Given the description of an element on the screen output the (x, y) to click on. 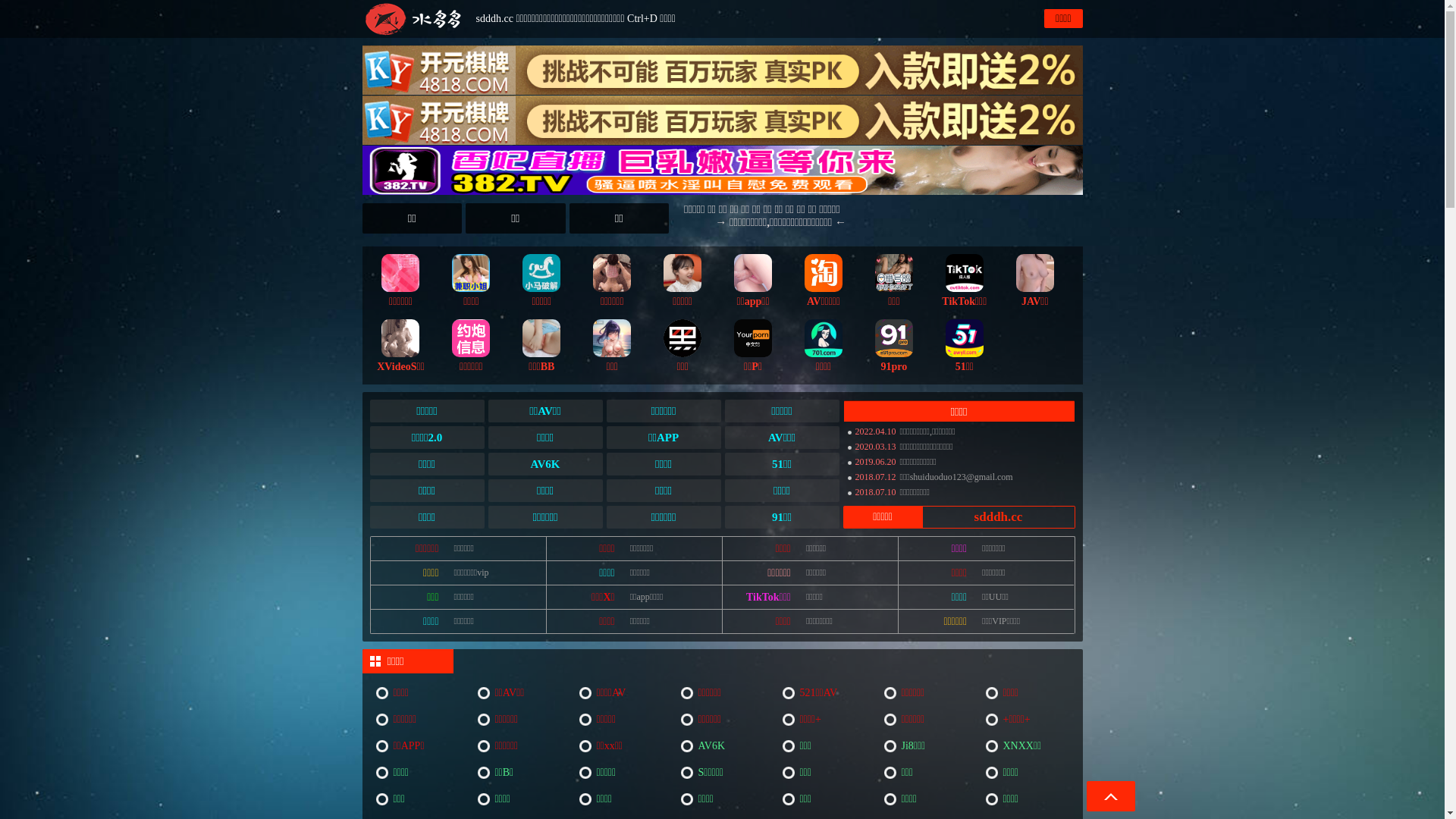
AV6K Element type: text (723, 745)
91pro Element type: text (893, 343)
AV6K Element type: text (545, 463)
